Given the description of an element on the screen output the (x, y) to click on. 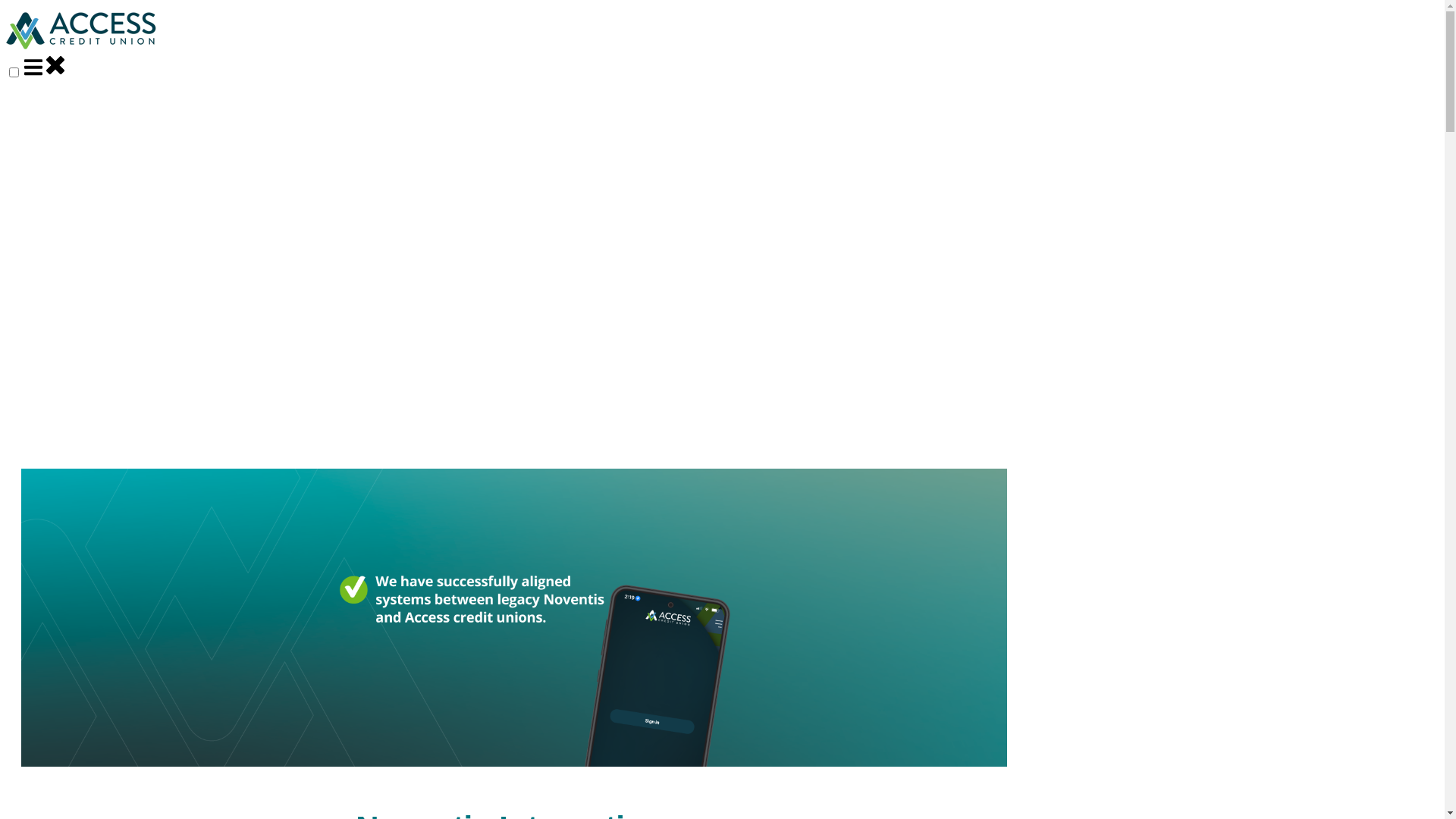
NoventisIntegrationSuccess_Carousel1920x580v2 Element type: hover (514, 617)
AccessCU_Horizontal_Colour_pws-1 Element type: hover (81, 31)
